Given the description of an element on the screen output the (x, y) to click on. 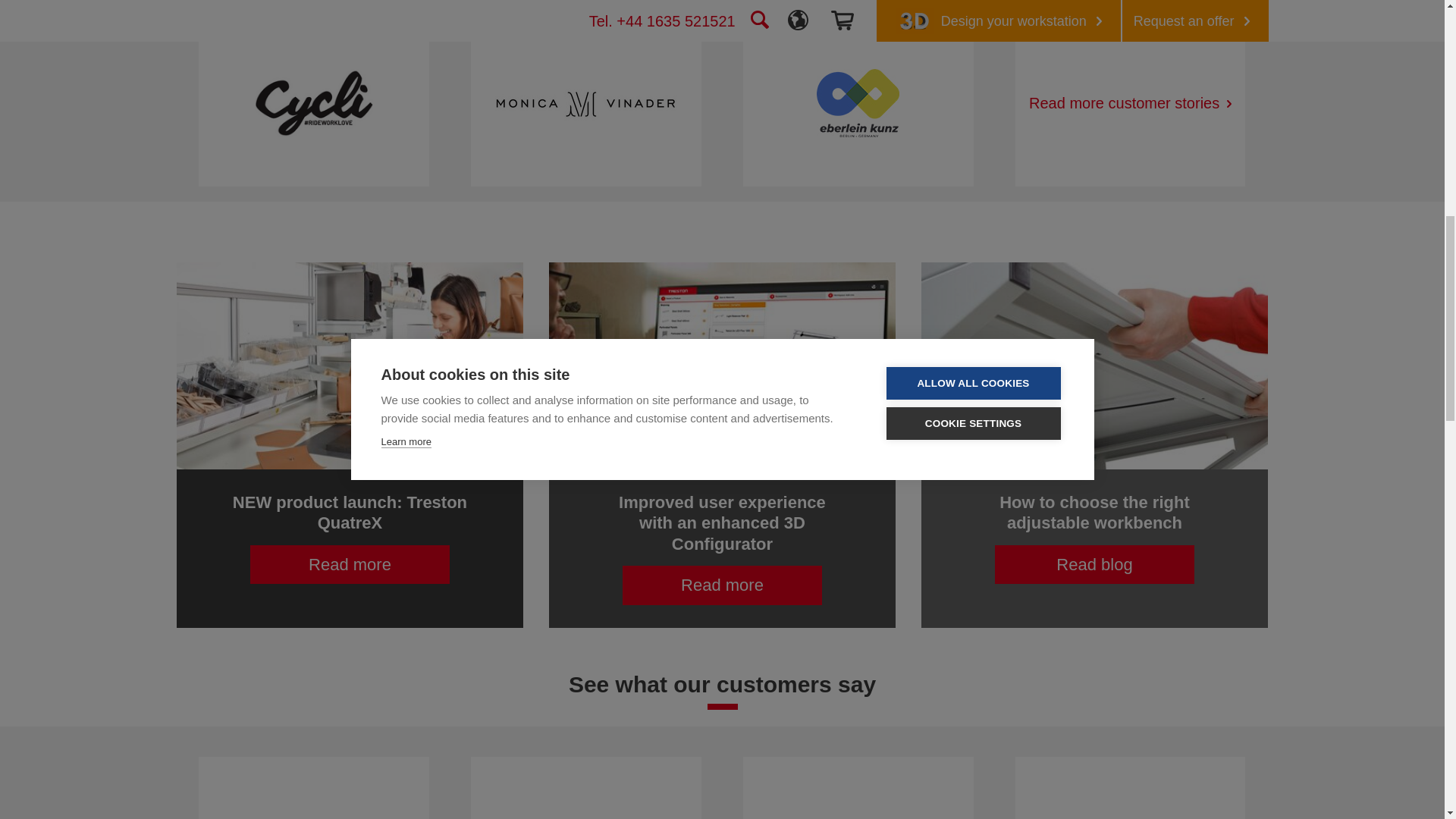
Eberlein und Kunz - customer story (857, 102)
Cycli - Customer Story (313, 102)
Treston X Monica Vinader story (586, 102)
New enhanced 3D Configurator (722, 365)
